Given the description of an element on the screen output the (x, y) to click on. 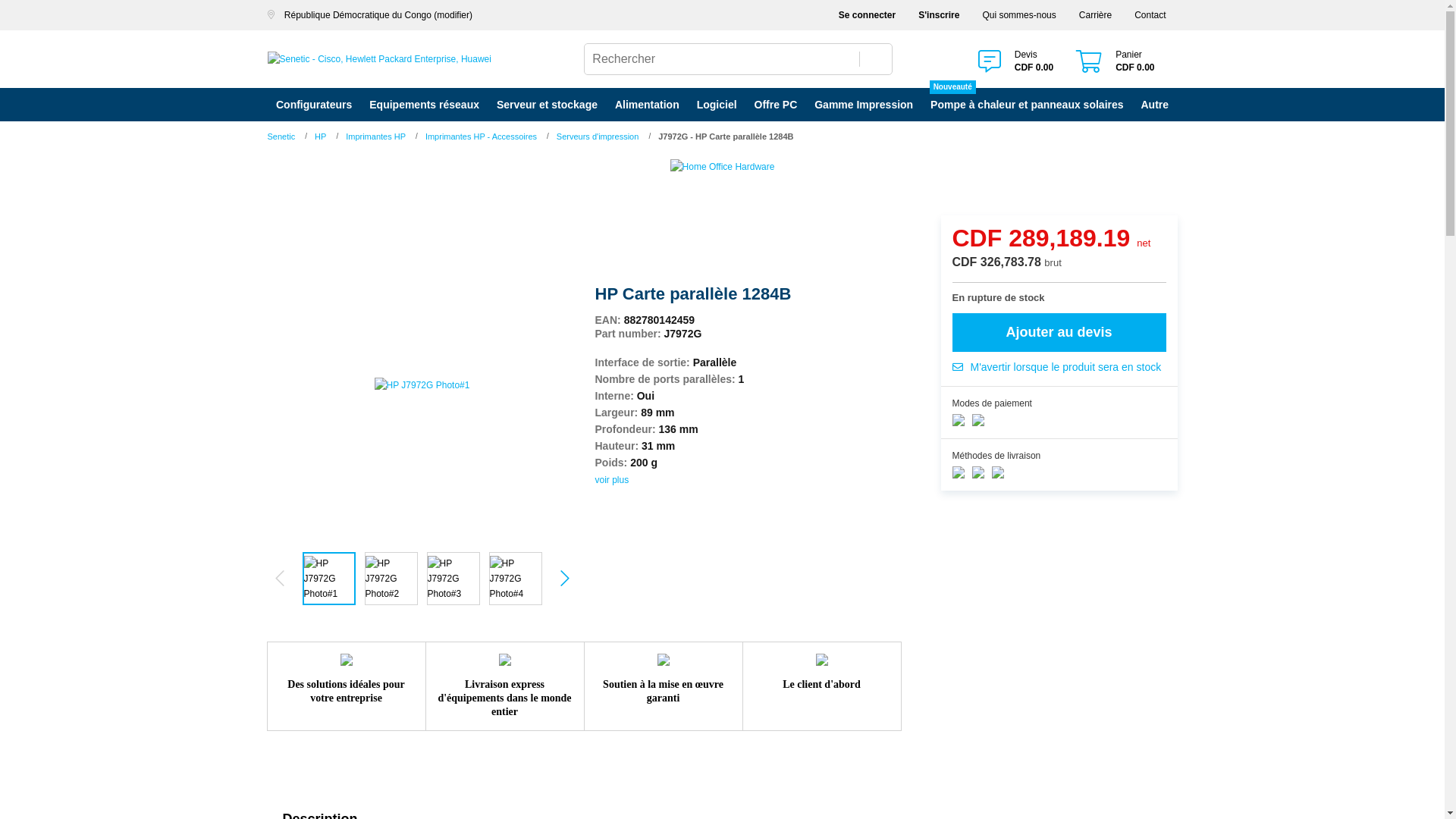
Panier
CDF 0.00 Element type: text (1115, 62)
Serveurs d'impression Element type: text (597, 136)
Ajouter au devis Element type: text (1059, 332)
Logiciel Element type: text (716, 104)
Configurateurs Element type: text (313, 104)
Qui sommes-nous Element type: text (1018, 14)
Gamme Impression Element type: text (864, 104)
Alimentation Element type: text (646, 104)
HP Element type: text (320, 136)
M'avertir lorsque le produit sera en stock Element type: text (1059, 366)
Offre PC Element type: text (775, 104)
Se connecter Element type: text (866, 14)
Imprimantes HP Element type: text (375, 136)
Contact Element type: text (1149, 14)
Devis
CDF 0.00 Element type: text (1015, 62)
Senetic Element type: text (280, 136)
voir plus Element type: text (611, 479)
S'inscrire Element type: text (938, 14)
Imprimantes HP - Accessoires Element type: text (480, 136)
Serveur et stockage Element type: text (546, 104)
Autre Element type: text (1154, 104)
